Given the description of an element on the screen output the (x, y) to click on. 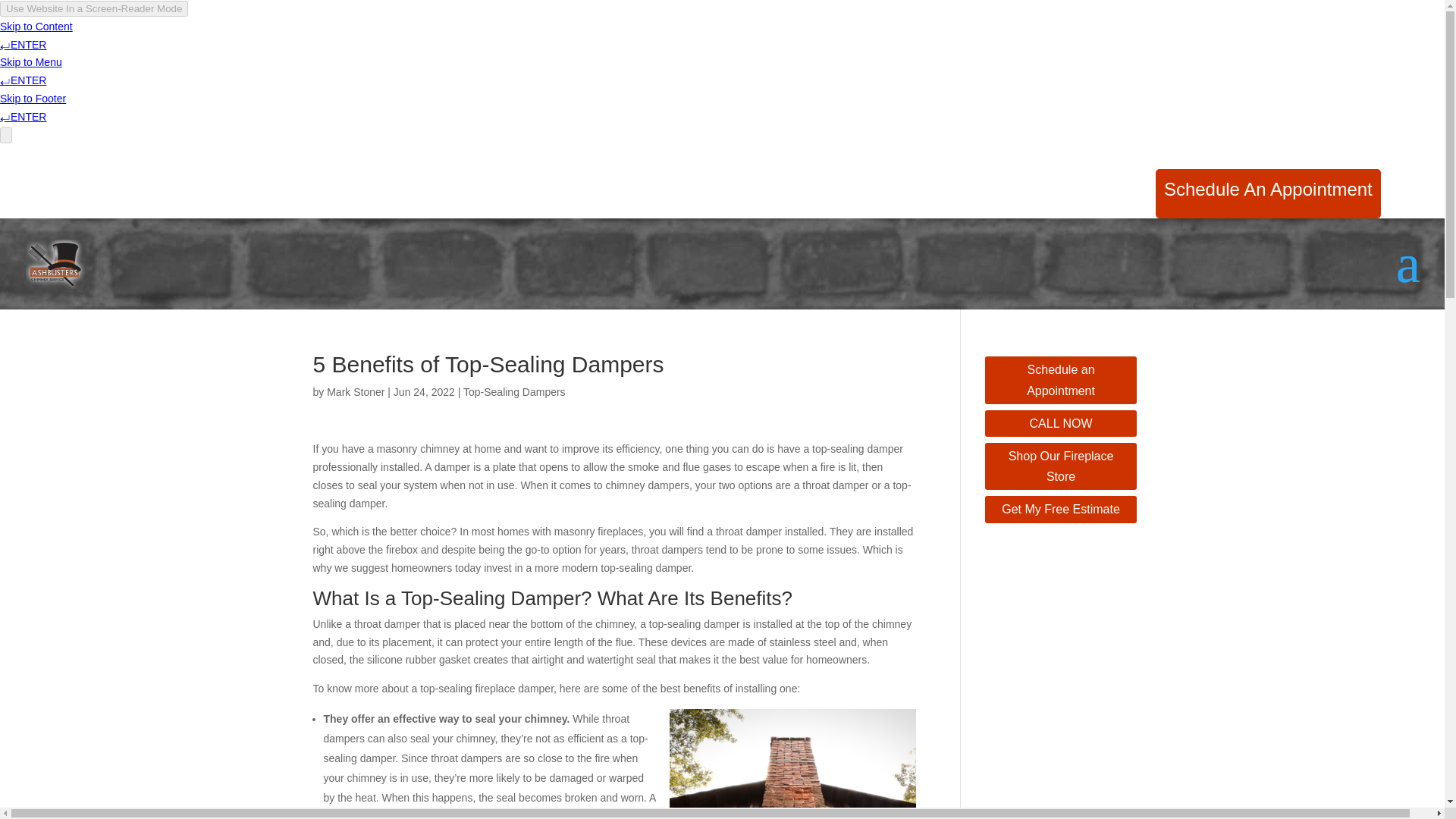
Posts by Mark Stoner (355, 391)
Mark Stoner (355, 391)
Top-Sealing Dampers (514, 391)
Schedule An Appointment (1268, 200)
